Given the description of an element on the screen output the (x, y) to click on. 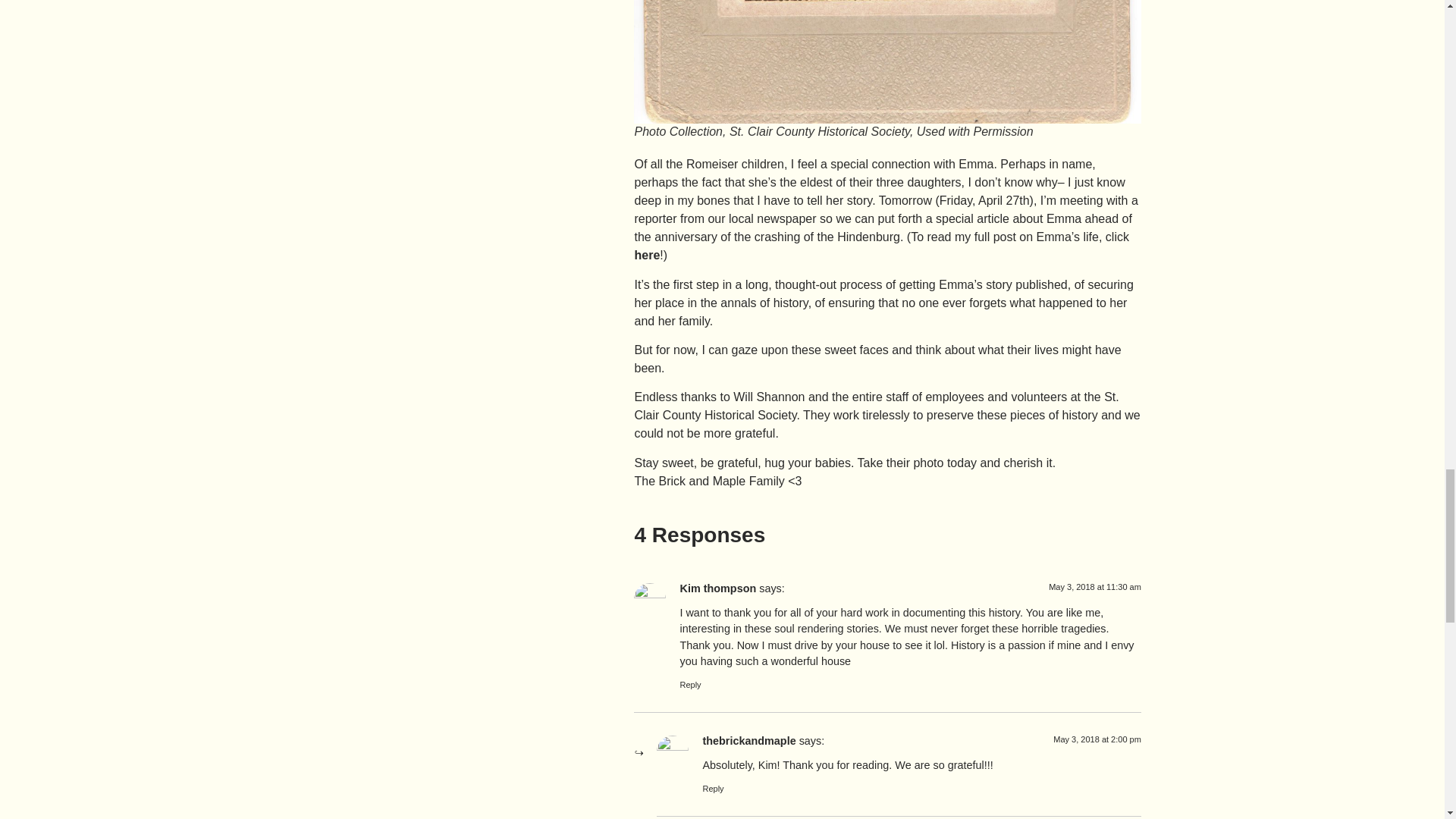
Reply (712, 788)
May 3, 2018 at 2:00 pm (1096, 738)
here (646, 254)
May 3, 2018 at 11:30 am (1094, 586)
Reply (689, 684)
thebrickandmaple (747, 740)
